Given the description of an element on the screen output the (x, y) to click on. 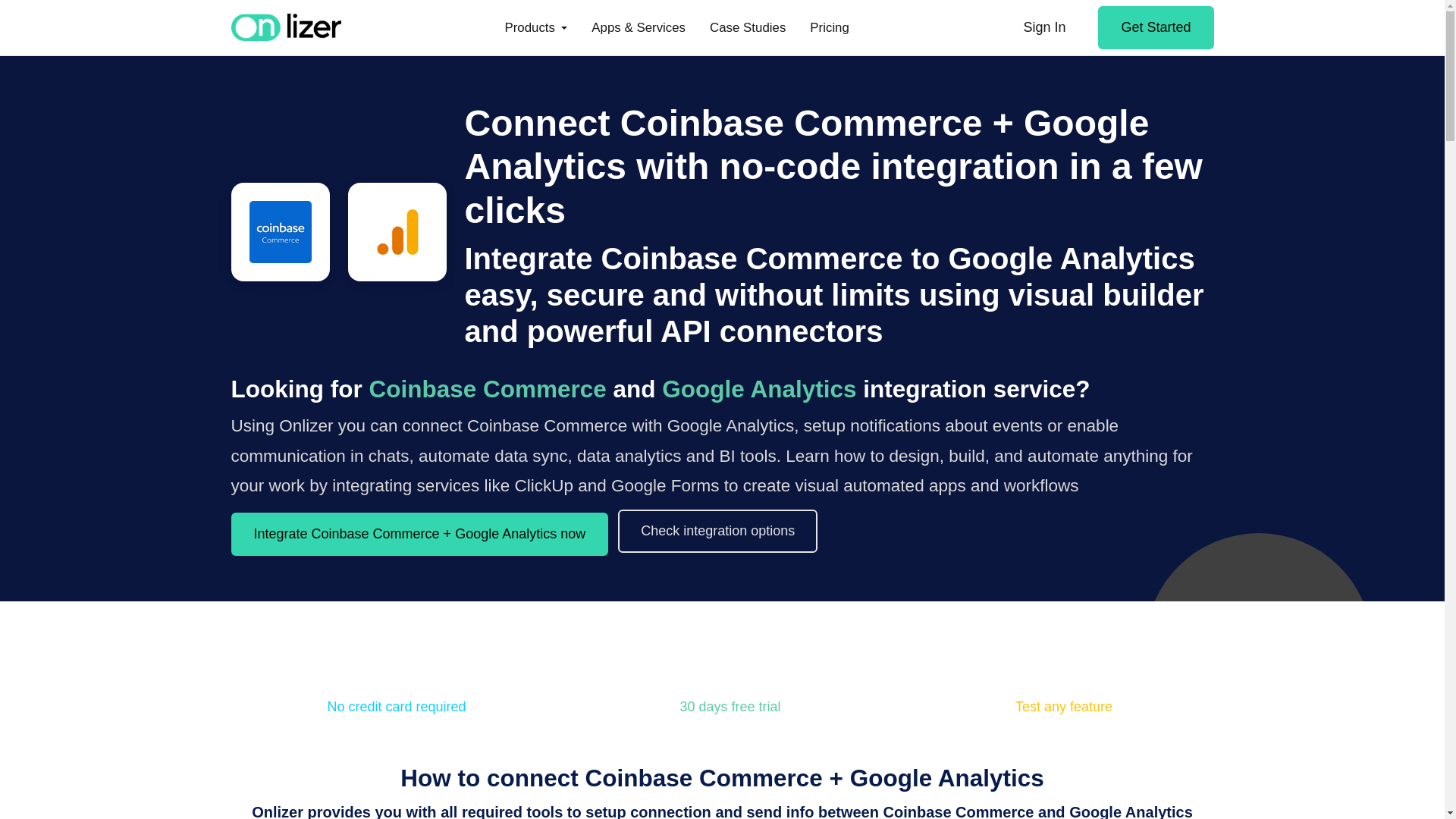
Products (535, 27)
Get Started (1154, 26)
Sign In (1043, 26)
Case Studies (747, 27)
Check integration options (716, 530)
Pricing (829, 27)
